Given the description of an element on the screen output the (x, y) to click on. 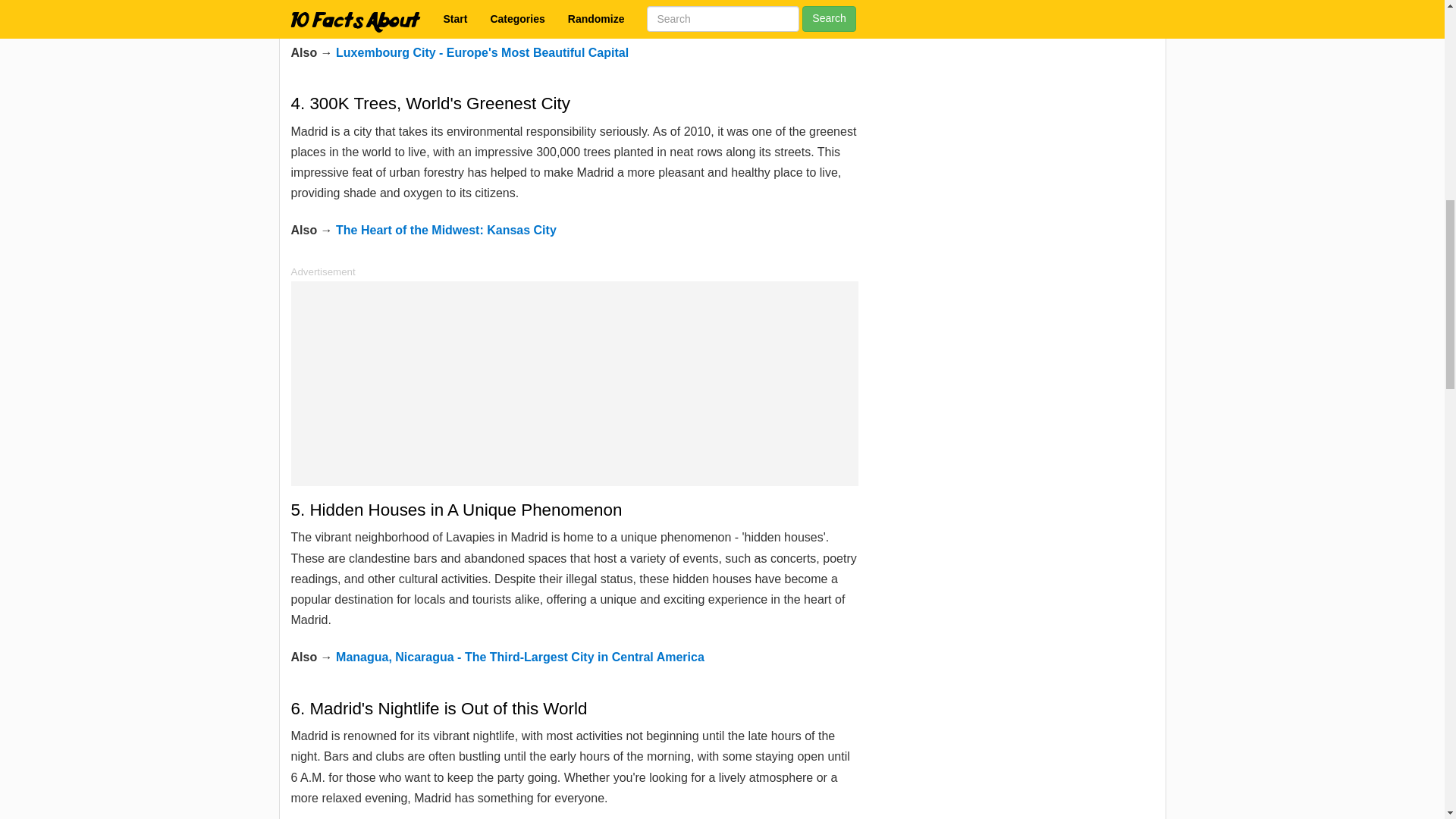
The Heart of the Midwest: Kansas City (446, 229)
Luxembourg City - Europe's Most Beautiful Capital (482, 51)
